Given the description of an element on the screen output the (x, y) to click on. 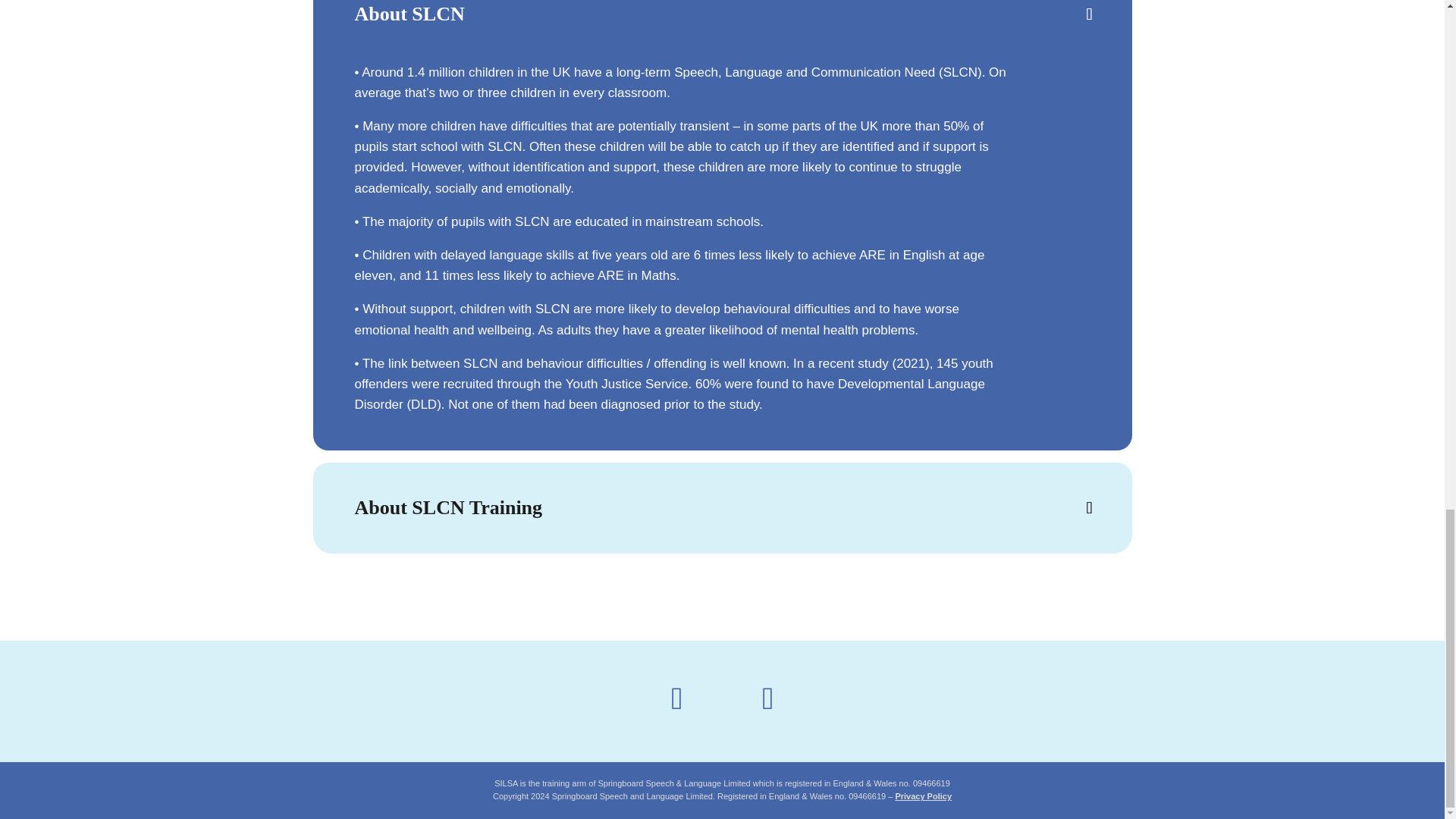
Follow on Instagram (767, 698)
Privacy Policy (923, 795)
Follow on X (676, 698)
